Given the description of an element on the screen output the (x, y) to click on. 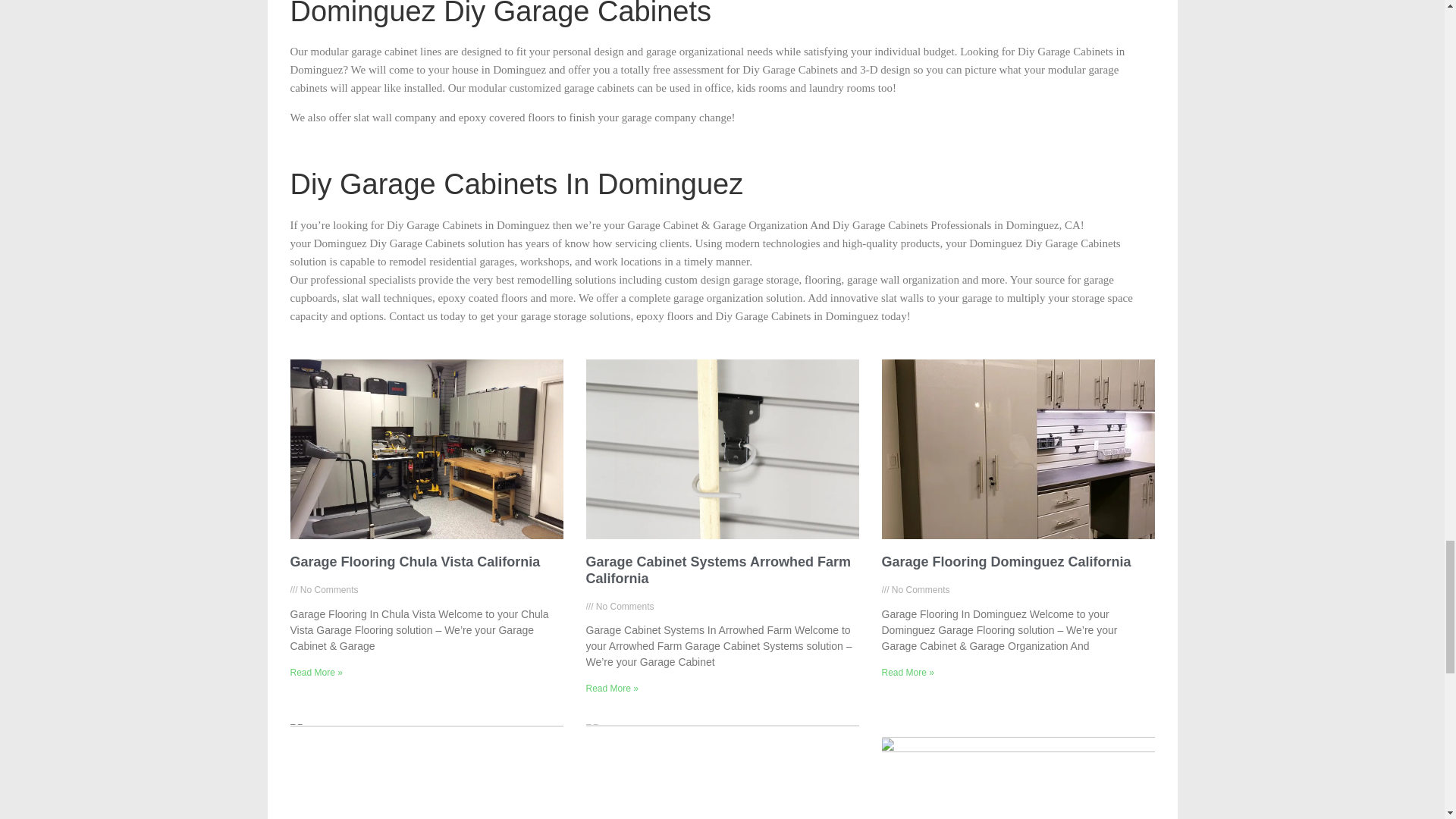
Garage Flooring Chula Vista California (414, 561)
Garage Flooring Dominguez California (1005, 561)
Garage Cabinet Systems Arrowhed Farm California (717, 570)
